Given the description of an element on the screen output the (x, y) to click on. 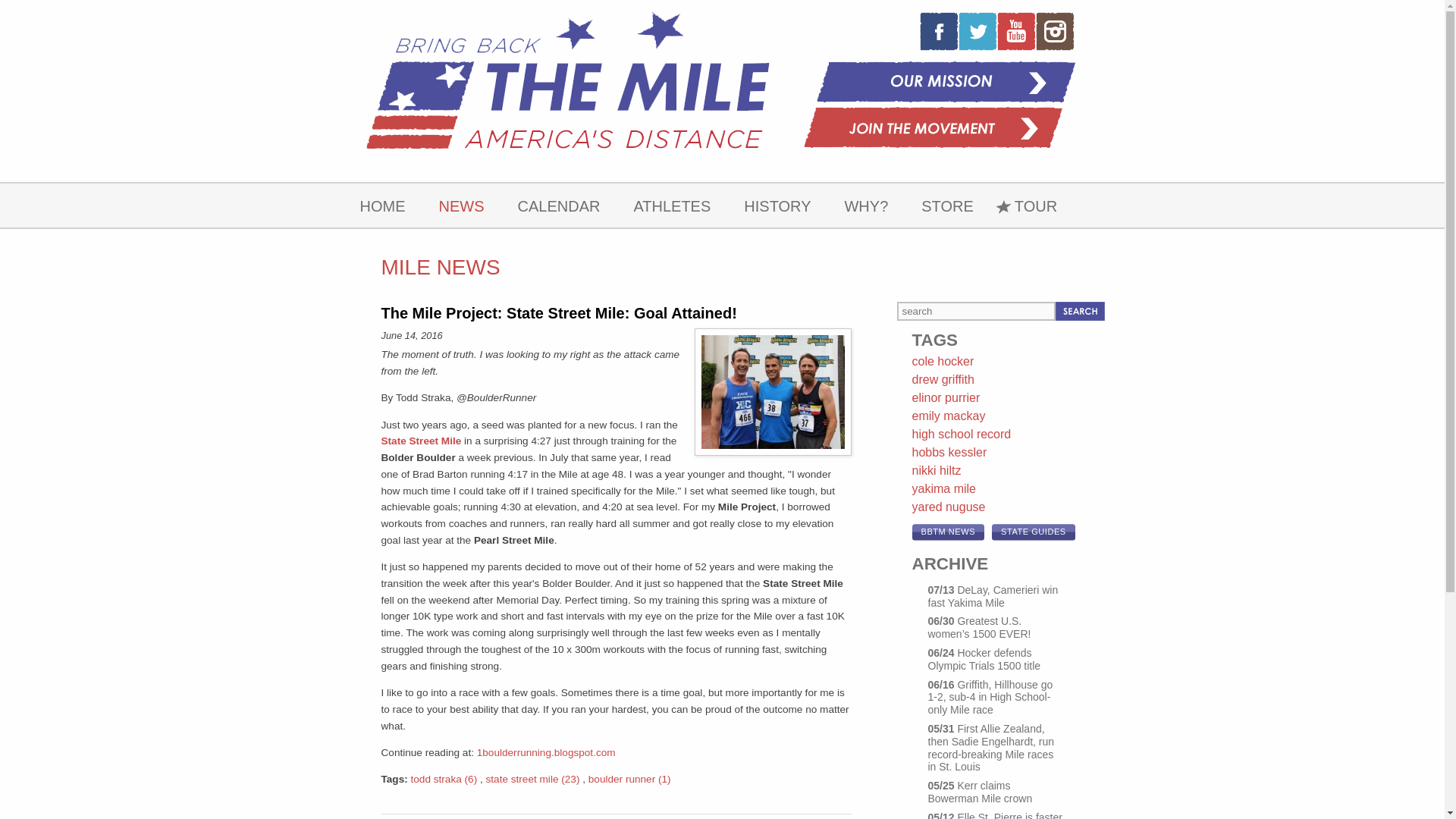
drew griffith (942, 379)
t (977, 30)
HISTORY (776, 205)
yakima mile (943, 488)
Search (1080, 311)
yt (1015, 30)
BBTM NEWS (947, 532)
NEWS (461, 205)
hobbs kessler (949, 451)
high school record (960, 433)
emily mackay (948, 415)
elinor purrier (945, 397)
nikki hiltz (935, 470)
STATE GUIDES (1033, 532)
yakima mile (943, 488)
